Given the description of an element on the screen output the (x, y) to click on. 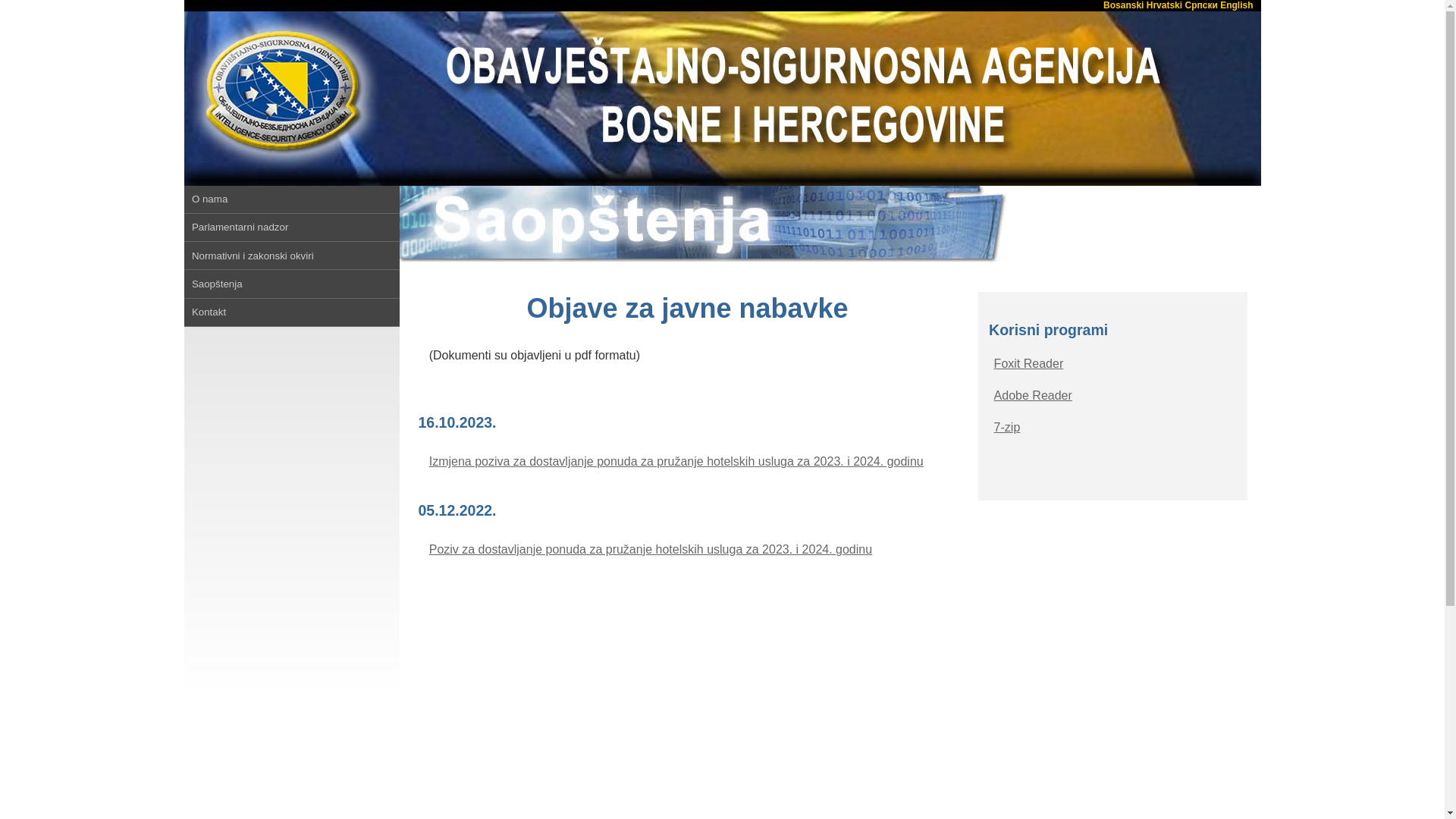
Foxit Reader Element type: text (1028, 363)
Adobe Reader Element type: text (1033, 395)
English Element type: text (1236, 5)
7-zip Element type: text (1007, 426)
Parlamentarni nadzor Element type: text (290, 227)
Bosanski Element type: text (1123, 5)
Hrvatski Element type: text (1164, 5)
